Given the description of an element on the screen output the (x, y) to click on. 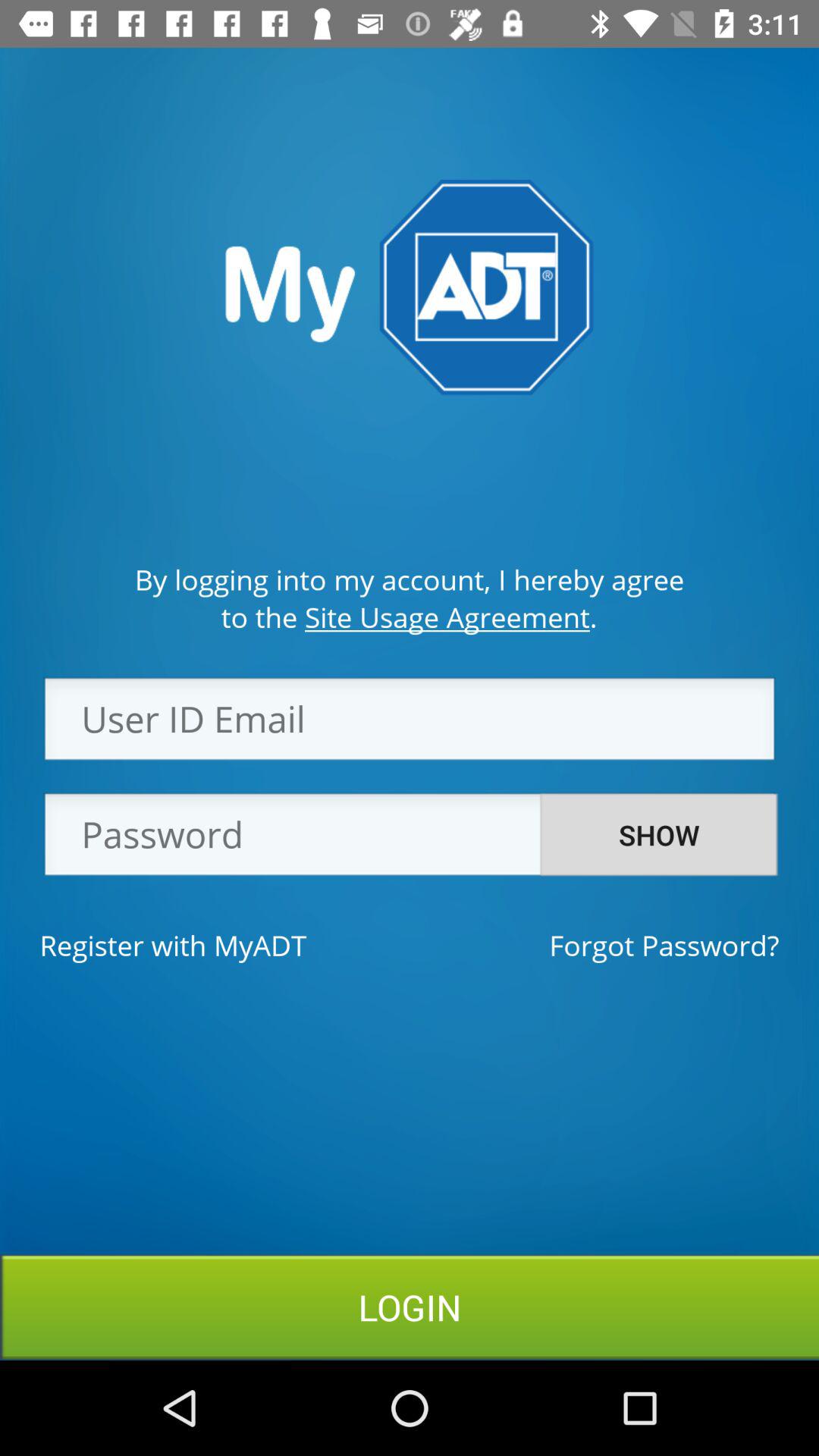
turn off icon to the right of the register with myadt (664, 945)
